Given the description of an element on the screen output the (x, y) to click on. 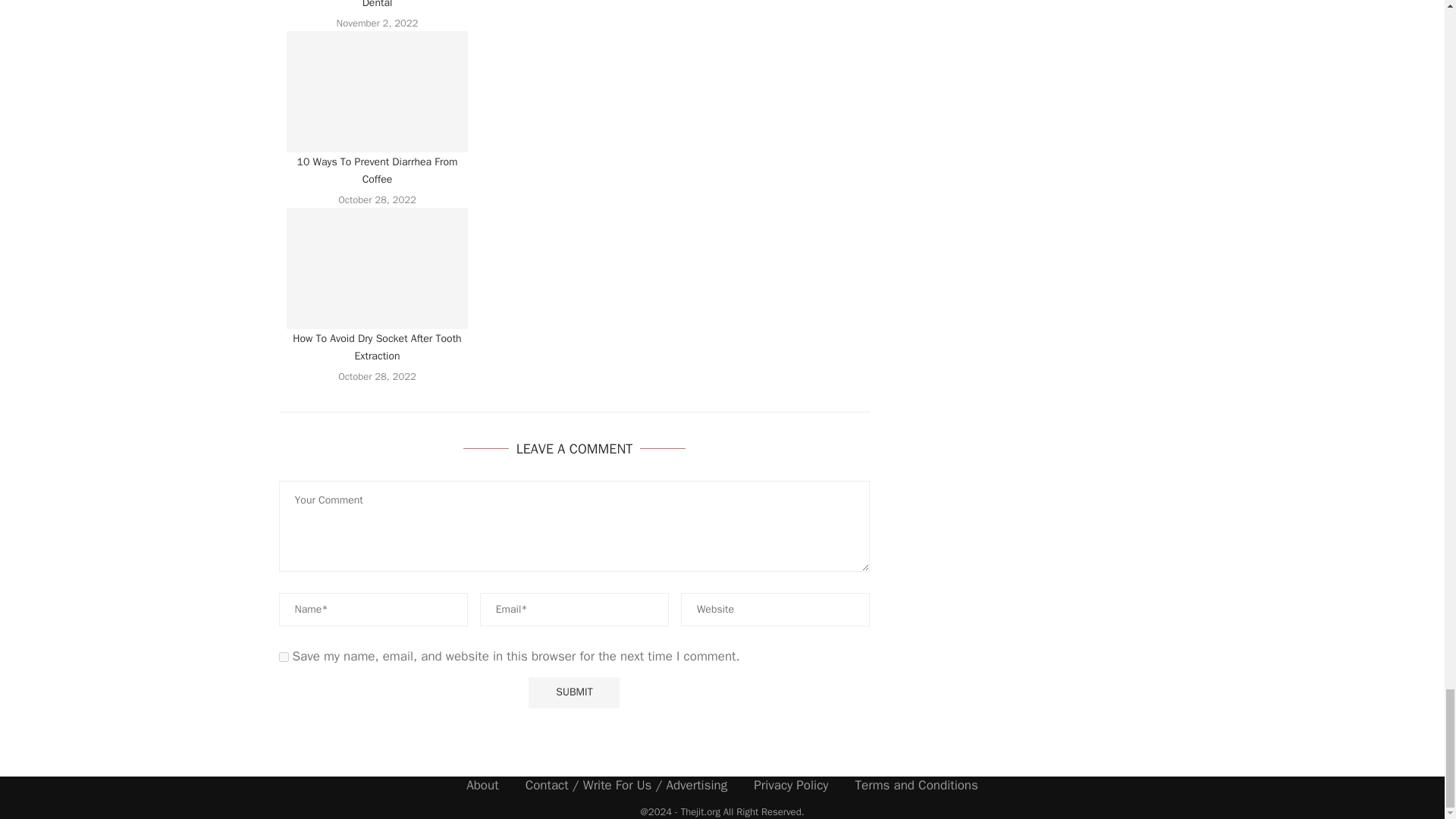
10 Ways To Prevent Diarrhea From Coffee (377, 91)
How To Avoid Dry Socket After Tooth Extraction (377, 268)
yes (283, 656)
Submit (574, 692)
